Given the description of an element on the screen output the (x, y) to click on. 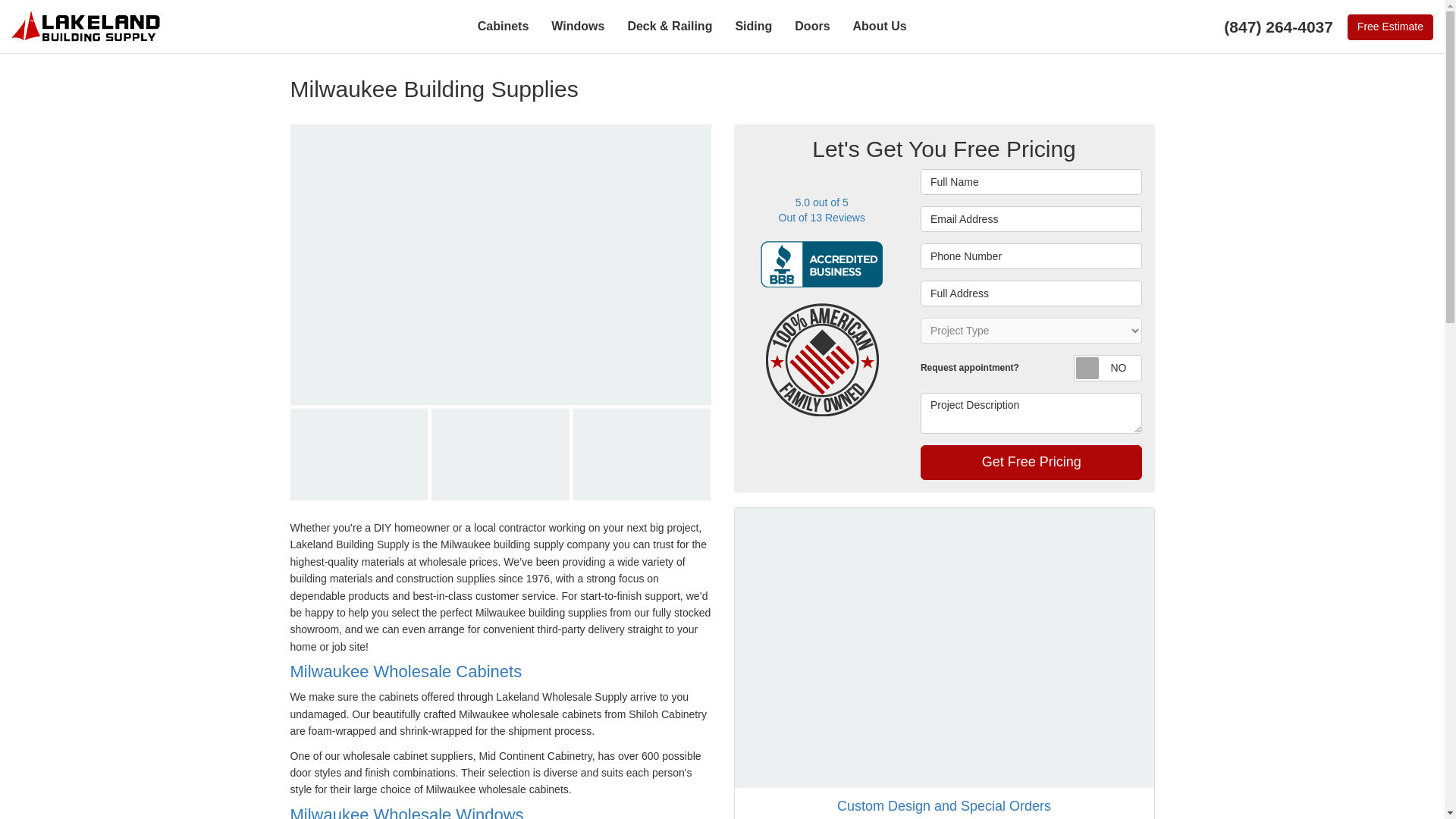
Siding (753, 26)
About Us (879, 26)
Free Estimate (1390, 27)
Free Estimate (1390, 27)
Cabinets (502, 26)
Doors (812, 26)
Windows (577, 26)
